Given the description of an element on the screen output the (x, y) to click on. 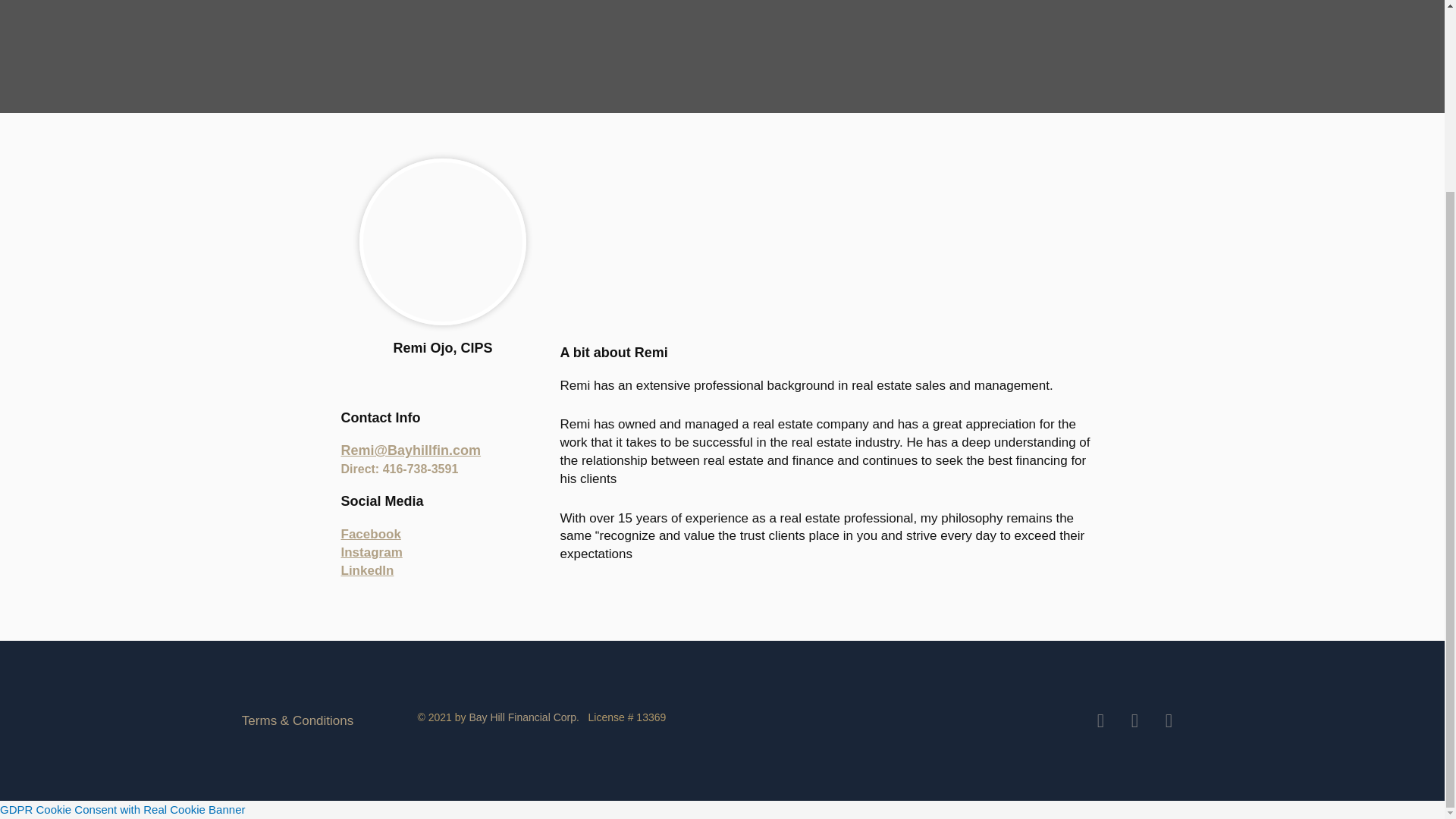
Bay Hill Financial Corp (522, 717)
416-738-3591 (420, 468)
Instagram (371, 552)
LinkedIn (367, 570)
Facebook (370, 534)
